Given the description of an element on the screen output the (x, y) to click on. 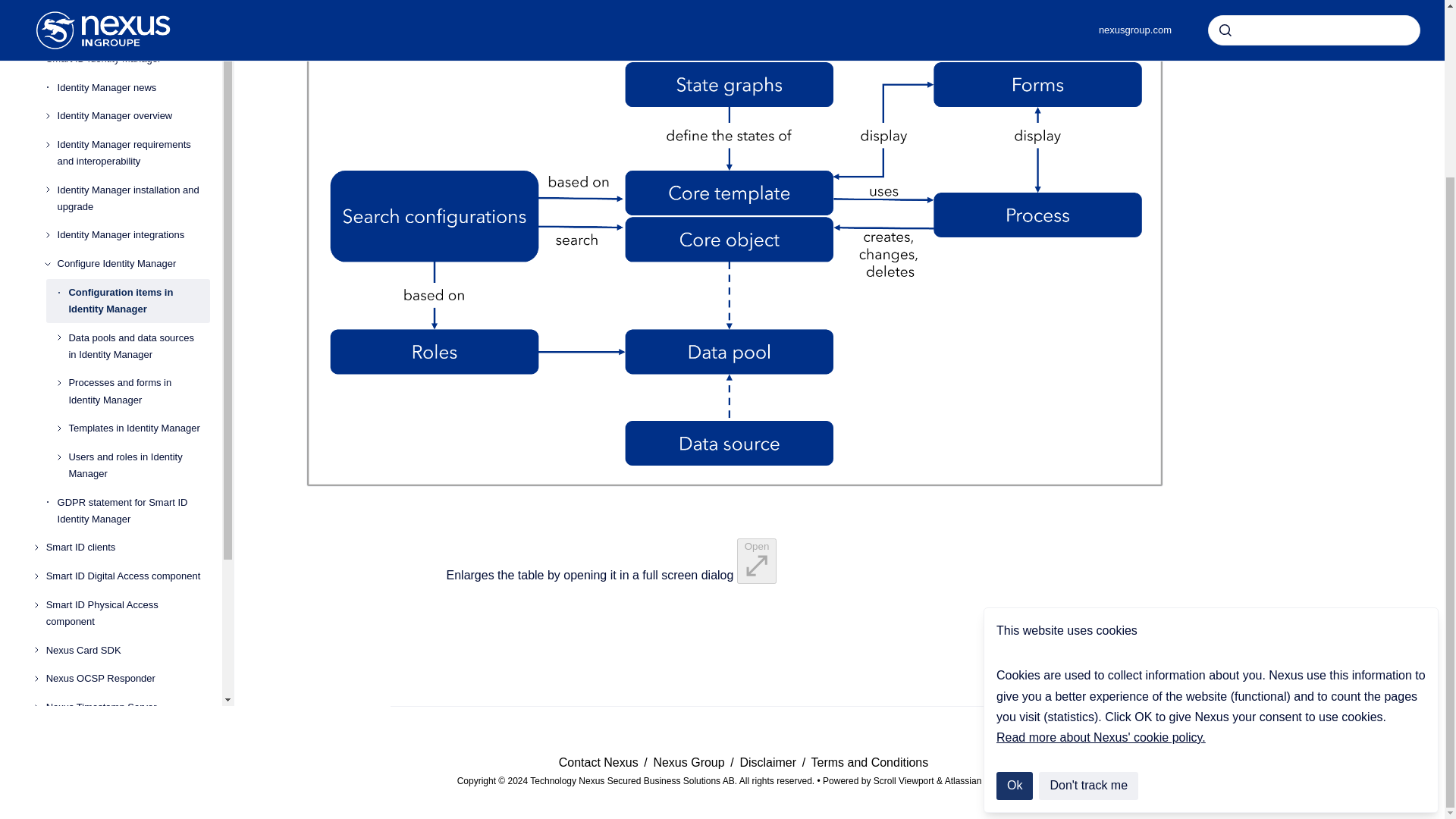
Read more about Nexus' cookie policy. (1100, 521)
Identity Manager requirements and interoperability (133, 50)
Smart ID clients (127, 445)
Data pools and data sources in Identity Manager (138, 243)
Don't track me (1088, 569)
Templates in Identity Manager (138, 325)
Processes and forms in Identity Manager (138, 289)
GDPR statement for Smart ID Identity Manager (133, 408)
Users and roles in Identity Manager (138, 362)
Identity Manager overview (133, 13)
Identity Manager integrations (133, 133)
Configure Identity Manager (133, 161)
Configuration items in Identity Manager (138, 198)
Ok (1013, 569)
Identity Manager installation and upgrade (133, 95)
